Given the description of an element on the screen output the (x, y) to click on. 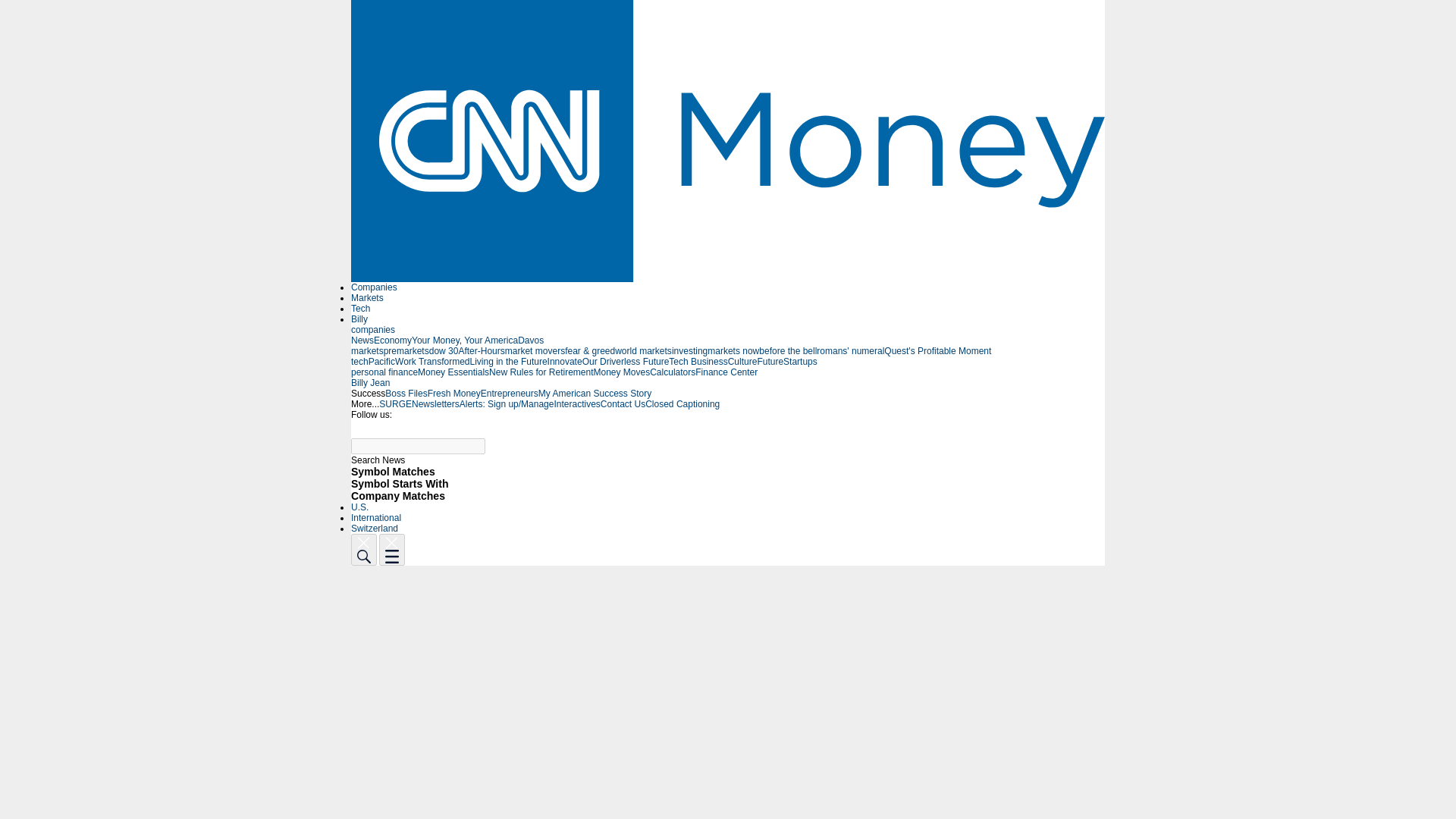
Economy (393, 339)
News (362, 339)
Living in the Future (508, 361)
before the bell (787, 350)
market movers (534, 350)
Future (770, 361)
Money Moves (620, 371)
New Rules for Retirement (540, 371)
After-Hours (480, 350)
Culture (742, 361)
